Given the description of an element on the screen output the (x, y) to click on. 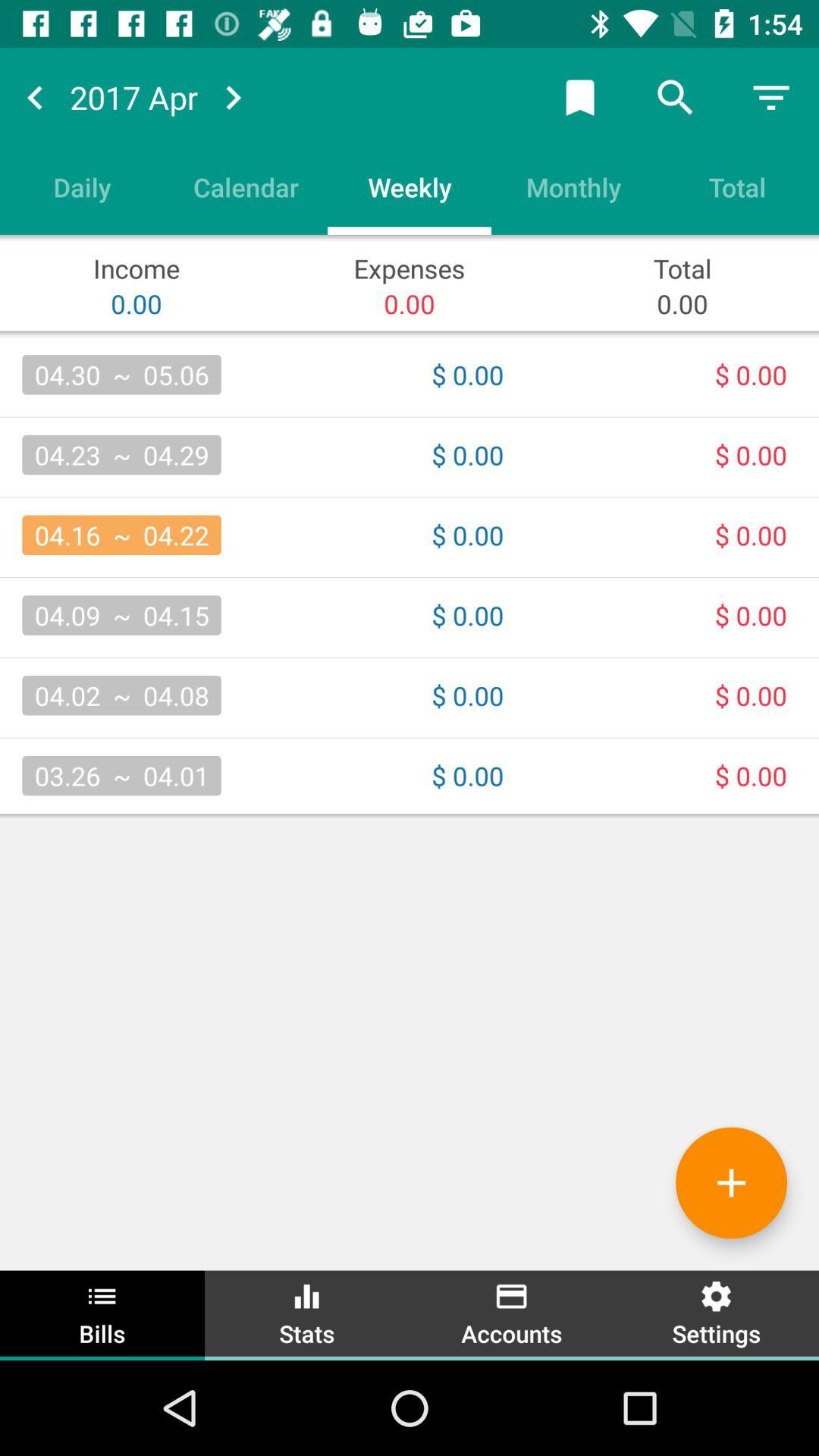
launch the item next to the monthly (409, 186)
